Given the description of an element on the screen output the (x, y) to click on. 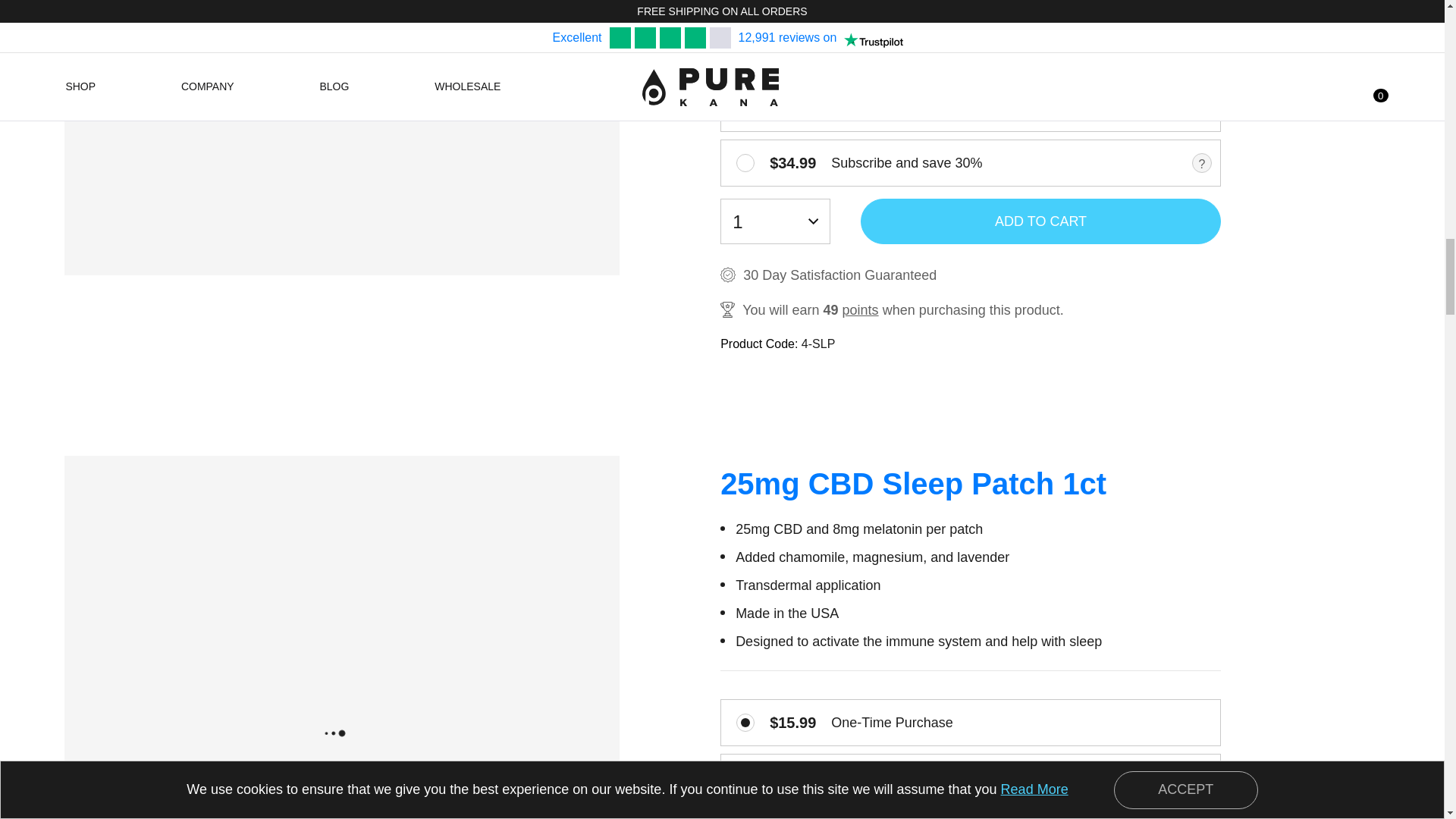
2 (745, 777)
0 (745, 722)
1 (745, 162)
0 (745, 54)
2 (745, 108)
